Given the description of an element on the screen output the (x, y) to click on. 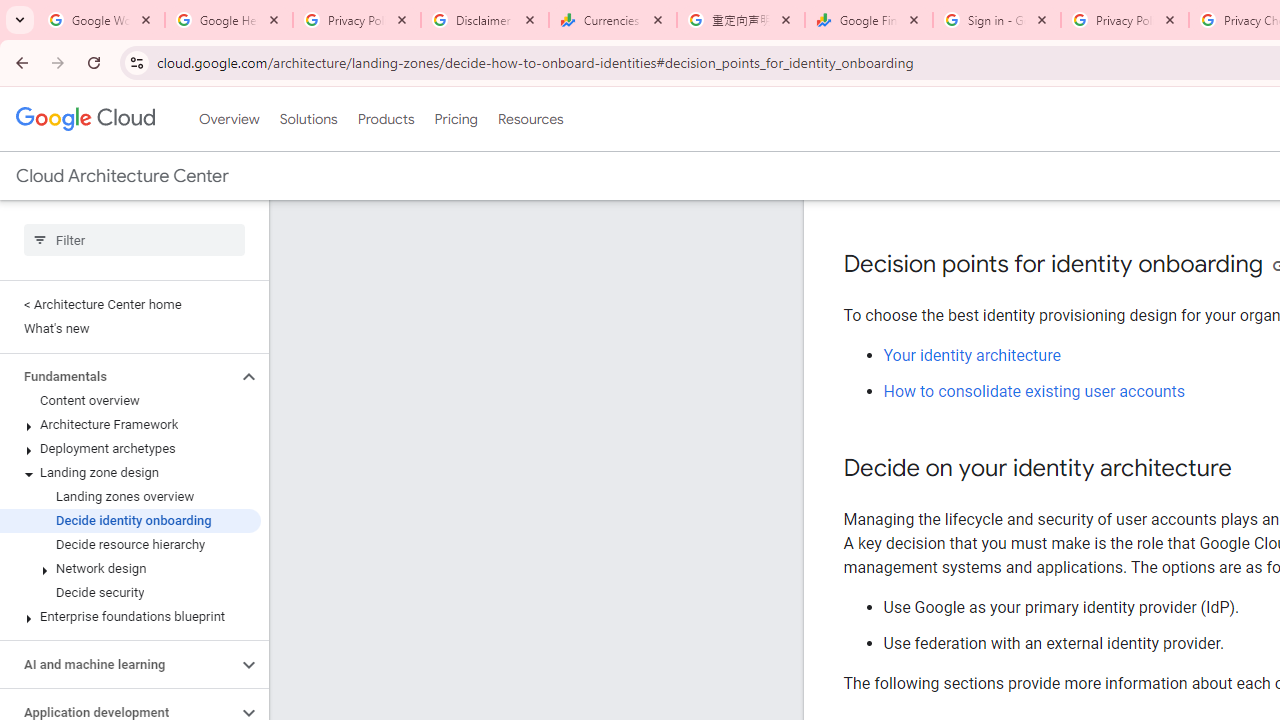
Sign in - Google Accounts (997, 20)
AI and machine learning (118, 664)
Enterprise foundations blueprint (130, 616)
Your identity architecture (972, 355)
Type to filter (134, 239)
Google Cloud (84, 118)
Currencies - Google Finance (613, 20)
Decide resource hierarchy (130, 544)
Content overview (130, 400)
